Given the description of an element on the screen output the (x, y) to click on. 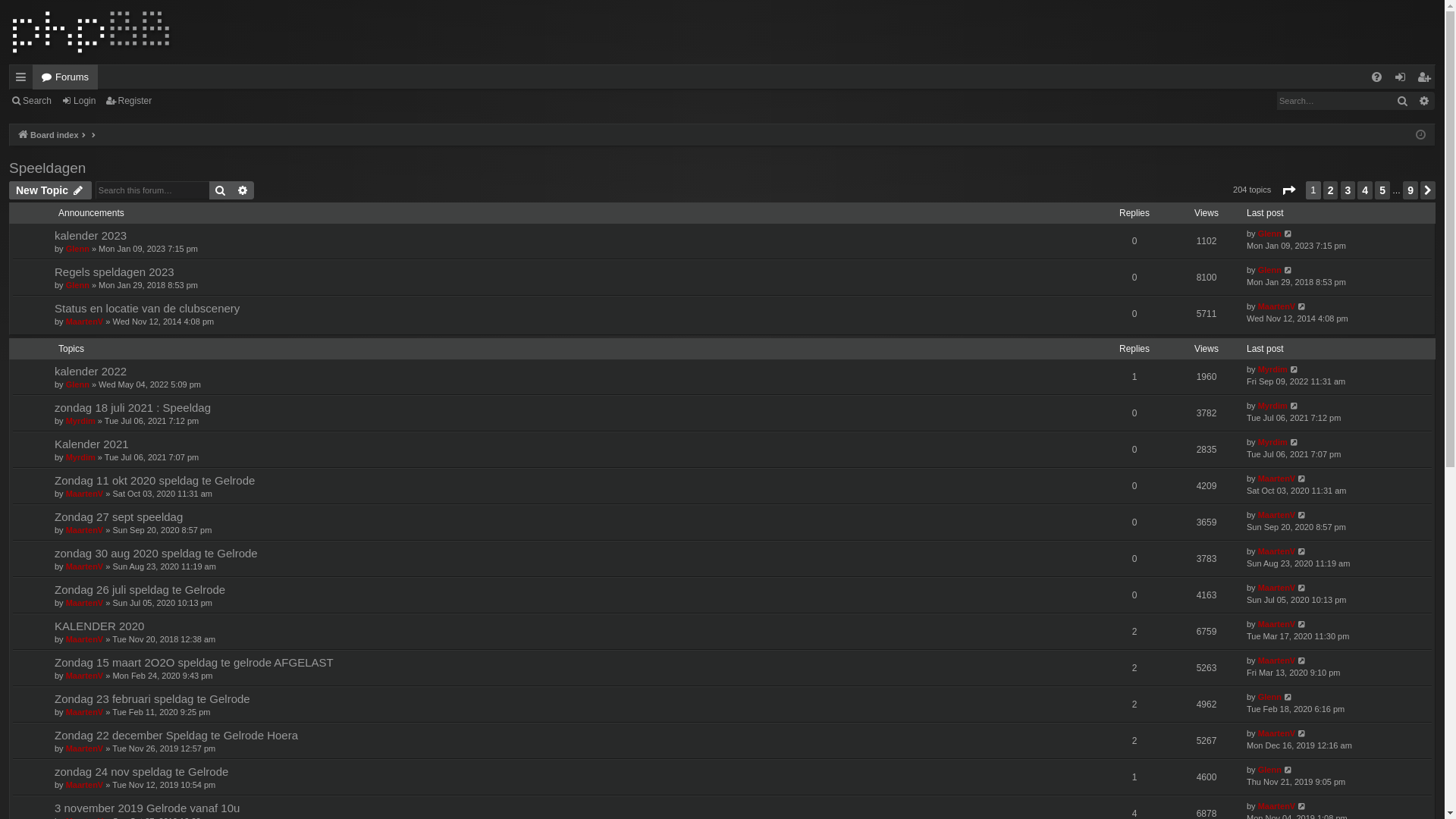
Unanswered topics Element type: text (114, 181)
Search Element type: text (194, 363)
3 Element type: text (39, 658)
5 Element type: text (39, 685)
FAQ Element type: text (50, 261)
Forums Element type: text (54, 235)
Search for keywords Element type: hover (115, 363)
Search Element type: text (163, 538)
Register Element type: text (56, 341)
Board index Element type: hover (87, 50)
9 Element type: text (39, 712)
It is currently Sat Nov 25, 2023 6:29 pm Element type: hover (38, 426)
Quick links Element type: text (64, 153)
Page of Element type: text (38, 587)
4 Element type: text (39, 671)
Active topics Element type: text (100, 194)
Login Element type: text (50, 275)
Register Element type: text (56, 288)
Advanced search Element type: text (177, 537)
Speeldagen Element type: text (50, 485)
Search Element type: text (52, 314)
Login Element type: text (50, 328)
Skip to content Element type: text (42, 128)
New Topic Element type: text (36, 517)
2 Element type: text (39, 644)
Search Element type: text (86, 222)
Next Element type: text (38, 726)
Advanced search Element type: text (208, 362)
Search Element type: text (39, 412)
Board index Element type: text (68, 398)
Enter the page number you wish to go to Element type: hover (96, 616)
